Given the description of an element on the screen output the (x, y) to click on. 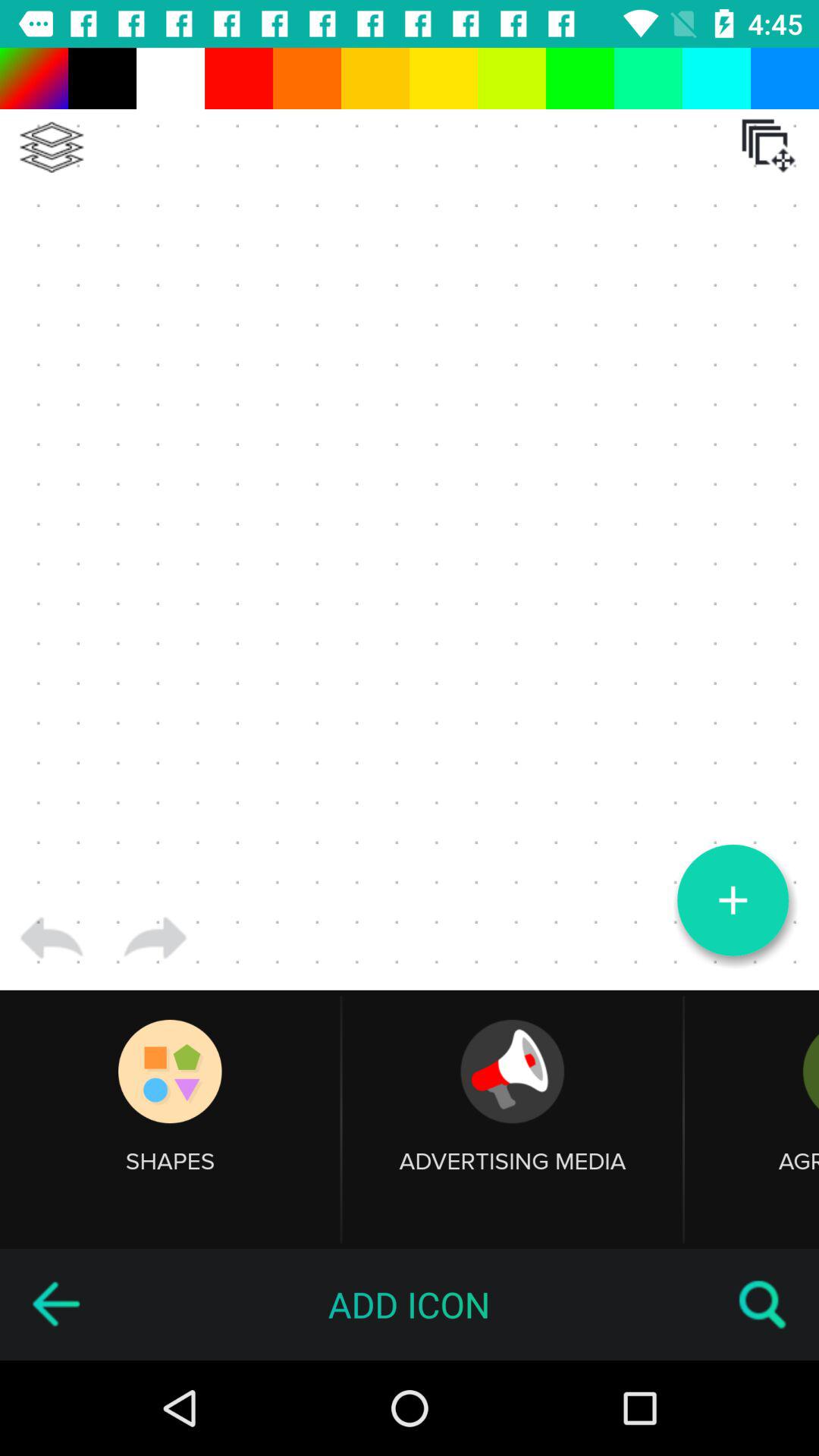
open item below the agriculture item (763, 1304)
